Given the description of an element on the screen output the (x, y) to click on. 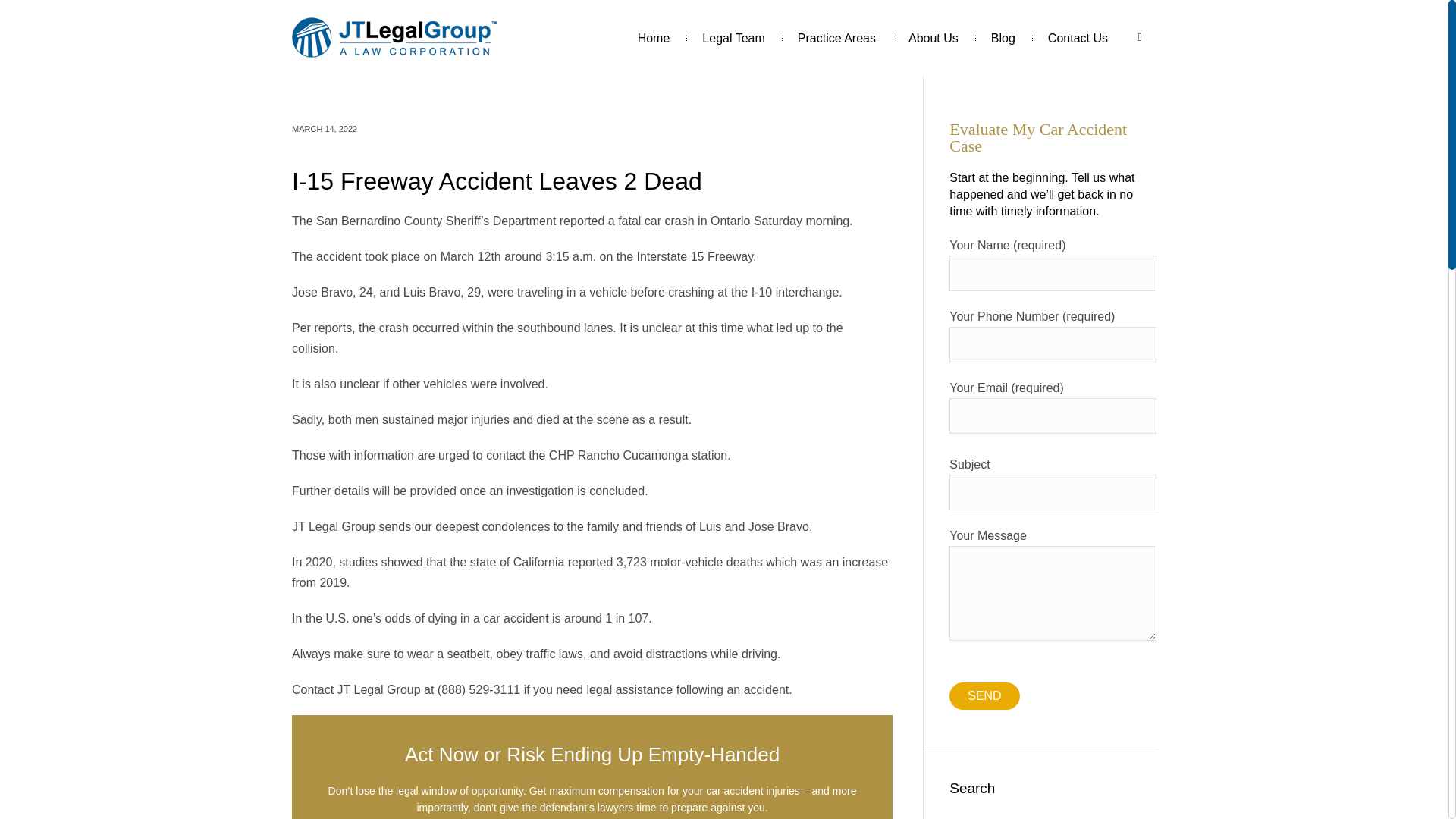
Practice Areas (836, 37)
Send (984, 696)
Home (653, 37)
Contact Us (1078, 37)
Blog (1002, 37)
March 14, 2022 (324, 128)
Legal Team (732, 37)
Send (984, 696)
About Us (933, 37)
